Given the description of an element on the screen output the (x, y) to click on. 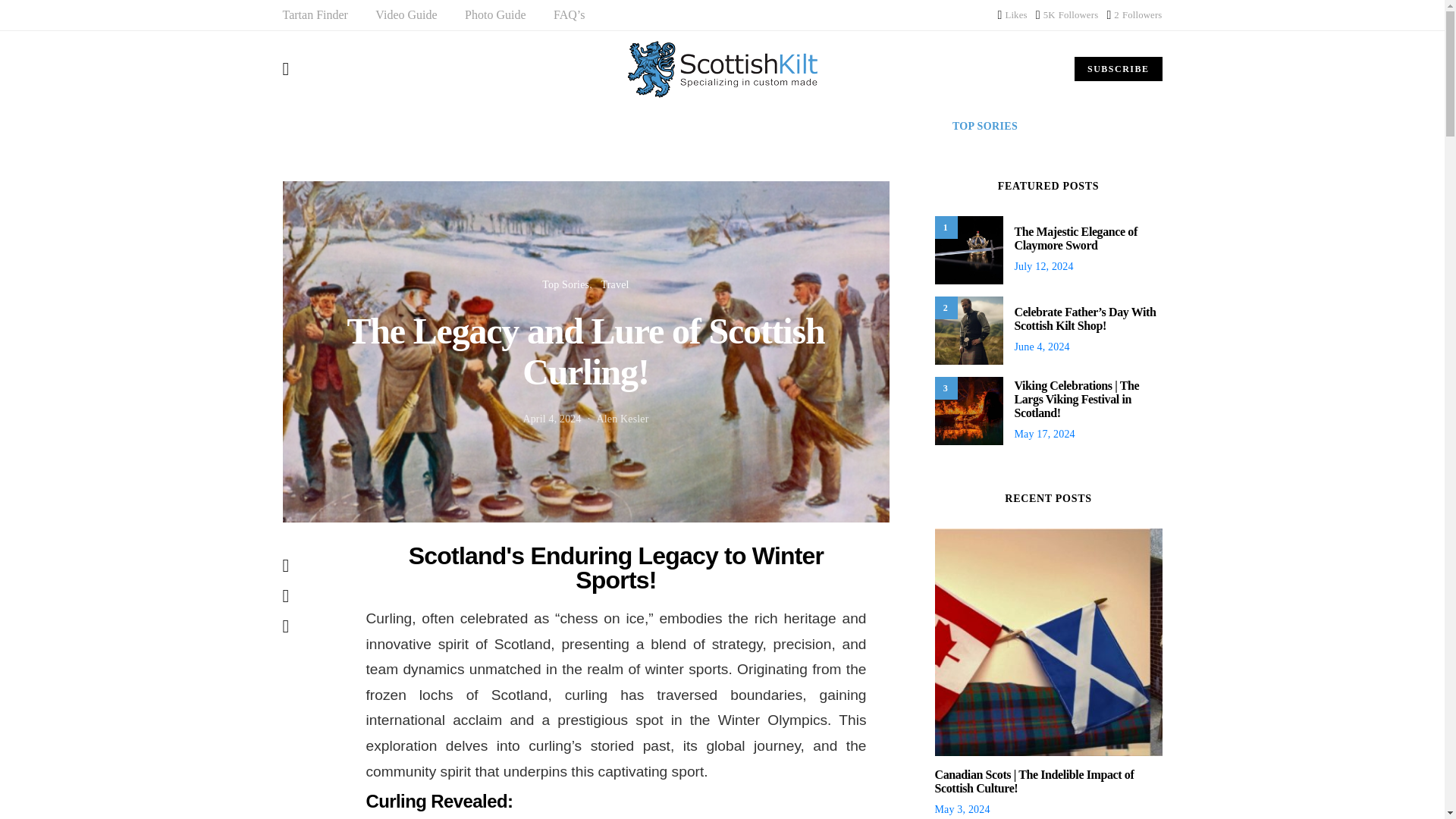
Photo Guide (494, 14)
SUBSCRIBE (1133, 15)
Tartan Finder (1117, 68)
SHOP (314, 14)
HOME (476, 125)
Likes (414, 125)
View all posts by Alen Kesler (1012, 15)
Video Guide (1066, 15)
